Given the description of an element on the screen output the (x, y) to click on. 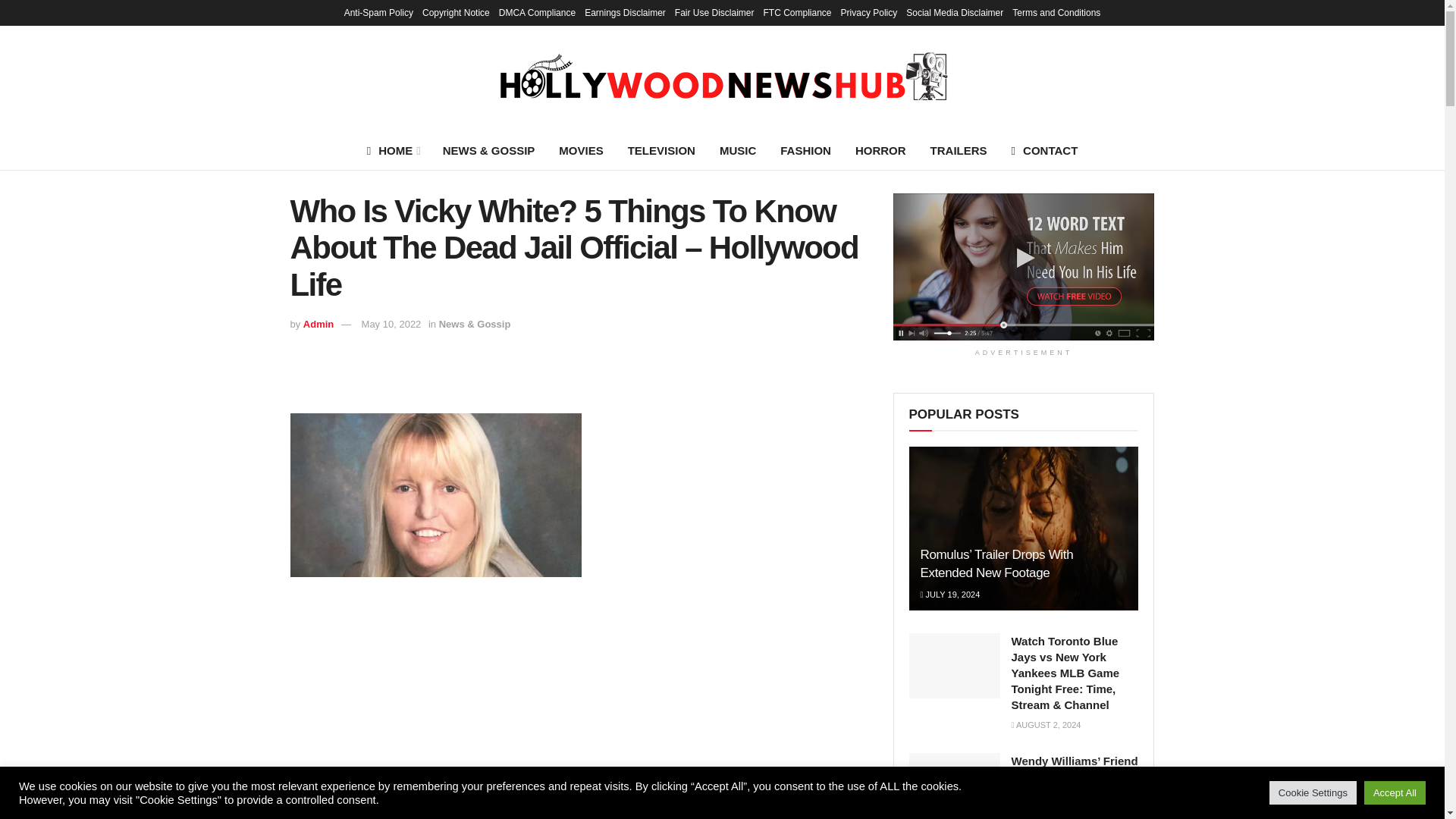
Terms and Conditions (1055, 12)
TELEVISION (661, 150)
CONTACT (1044, 150)
May 10, 2022 (391, 324)
Privacy Policy (869, 12)
TRAILERS (958, 150)
Fair Use Disclaimer (714, 12)
FASHION (805, 150)
Admin (317, 324)
FTC Compliance (796, 12)
